Given the description of an element on the screen output the (x, y) to click on. 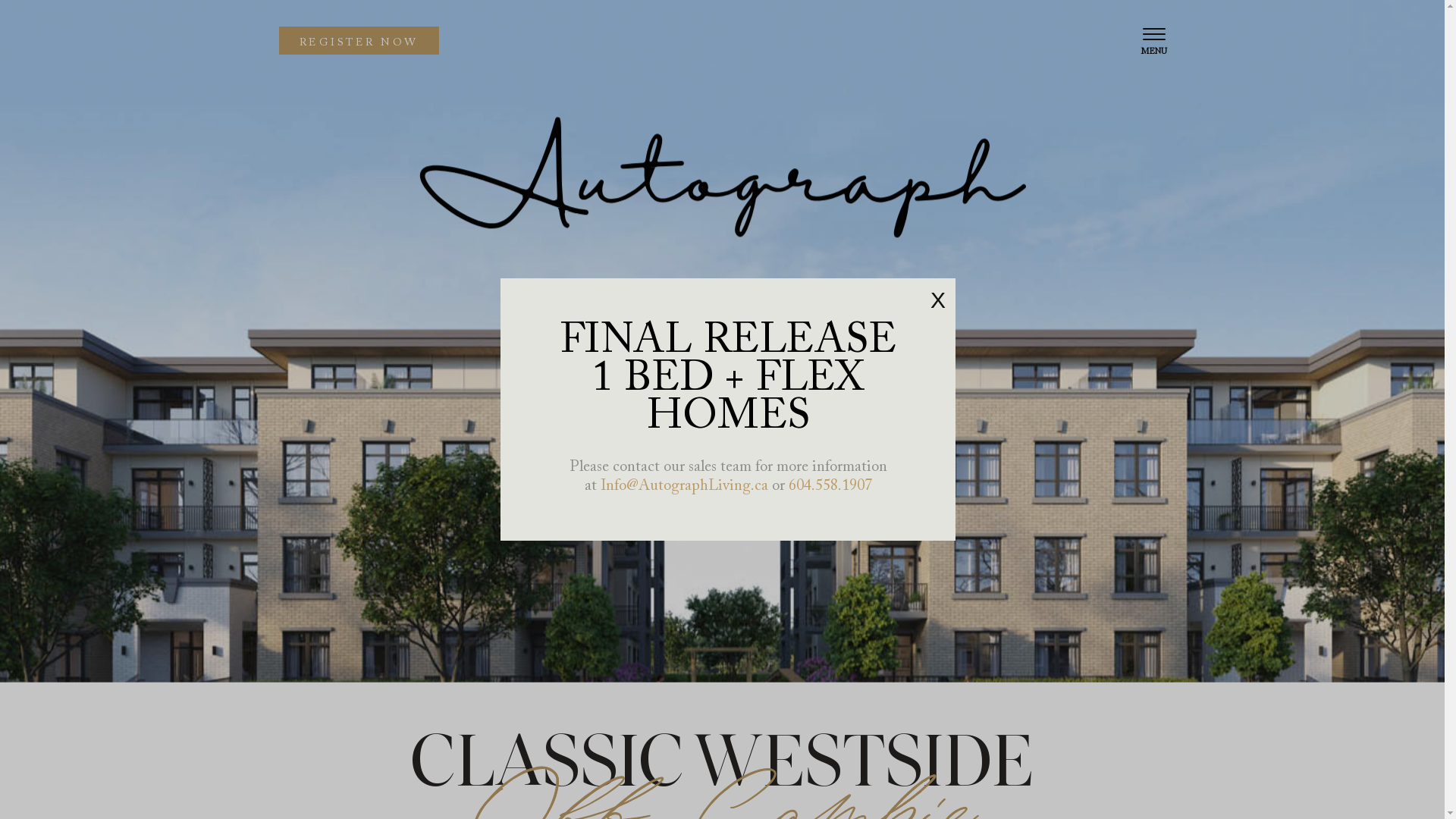
REGISTER NOW Element type: text (359, 40)
X Element type: text (937, 300)
604.558.1907 Element type: text (830, 485)
Info@AutographLiving.ca Element type: text (684, 485)
